Given the description of an element on the screen output the (x, y) to click on. 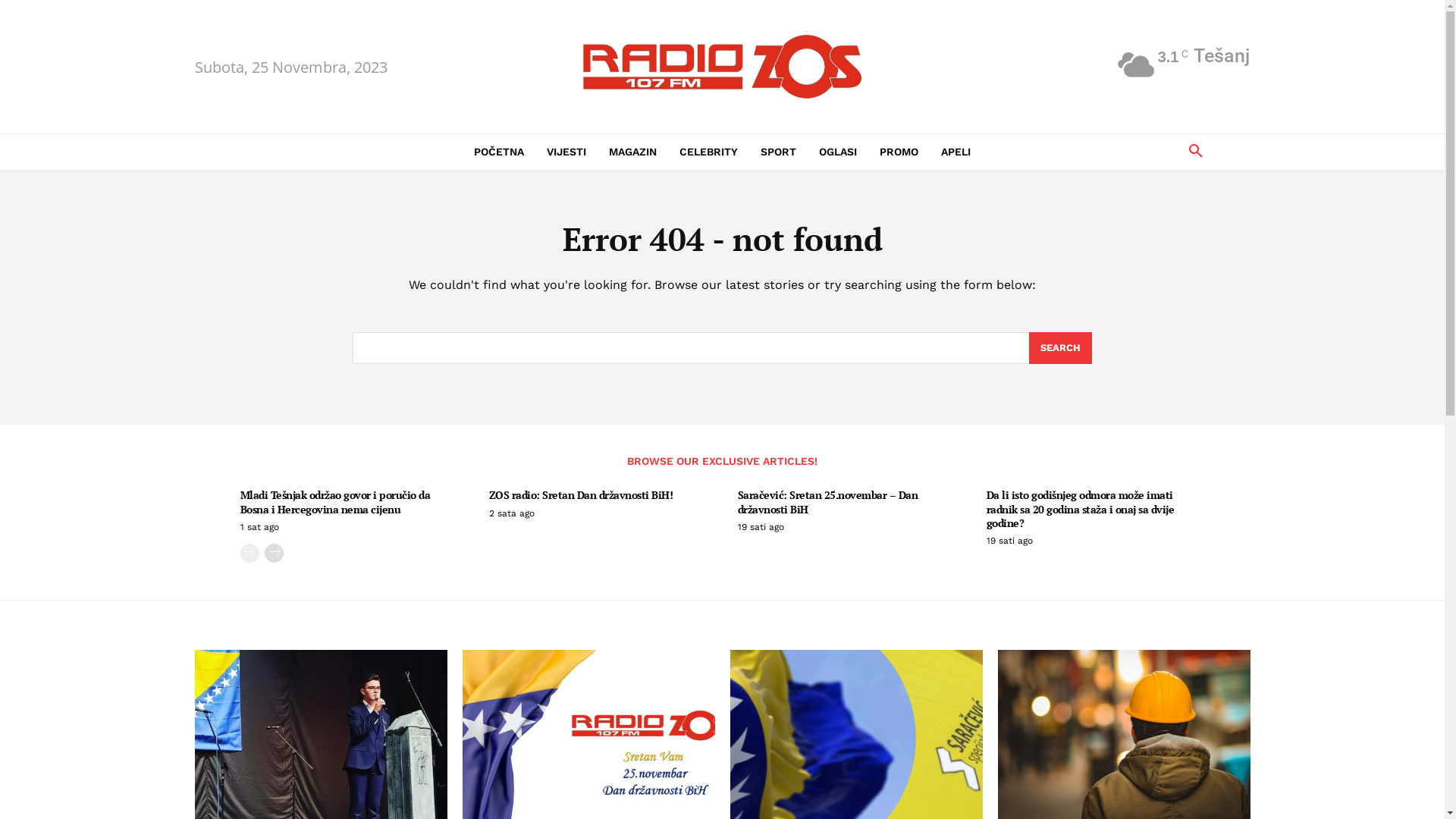
CELEBRITY Element type: text (708, 151)
OGLASI Element type: text (837, 151)
SPORT Element type: text (778, 151)
APELI Element type: text (955, 151)
MAGAZIN Element type: text (632, 151)
SEARCH Element type: text (1060, 348)
PROMO Element type: text (898, 151)
VIJESTI Element type: text (566, 151)
